Given the description of an element on the screen output the (x, y) to click on. 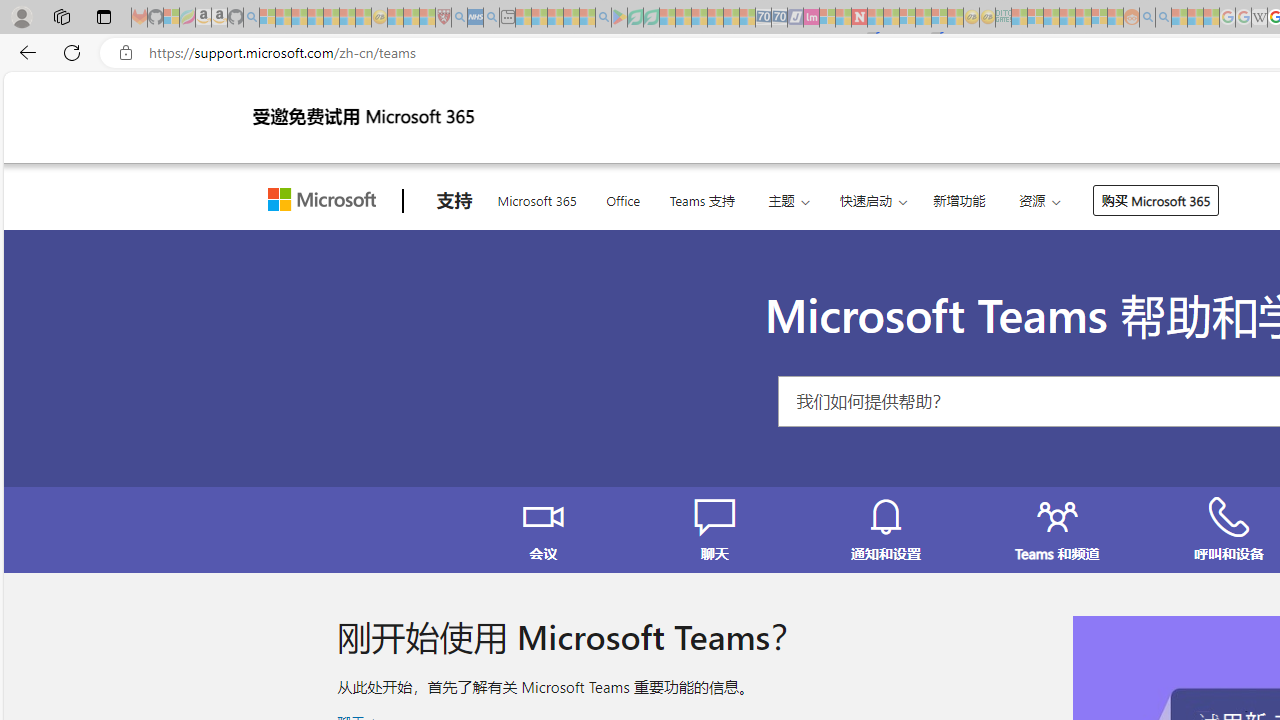
MSNBC - MSN - Sleeping (1019, 17)
View site information (125, 53)
Robert H. Shmerling, MD - Harvard Health - Sleeping (443, 17)
Microsoft 365 (536, 198)
Microsoft account | Privacy - Sleeping (1035, 17)
Pets - MSN - Sleeping (571, 17)
Workspaces (61, 16)
